Given the description of an element on the screen output the (x, y) to click on. 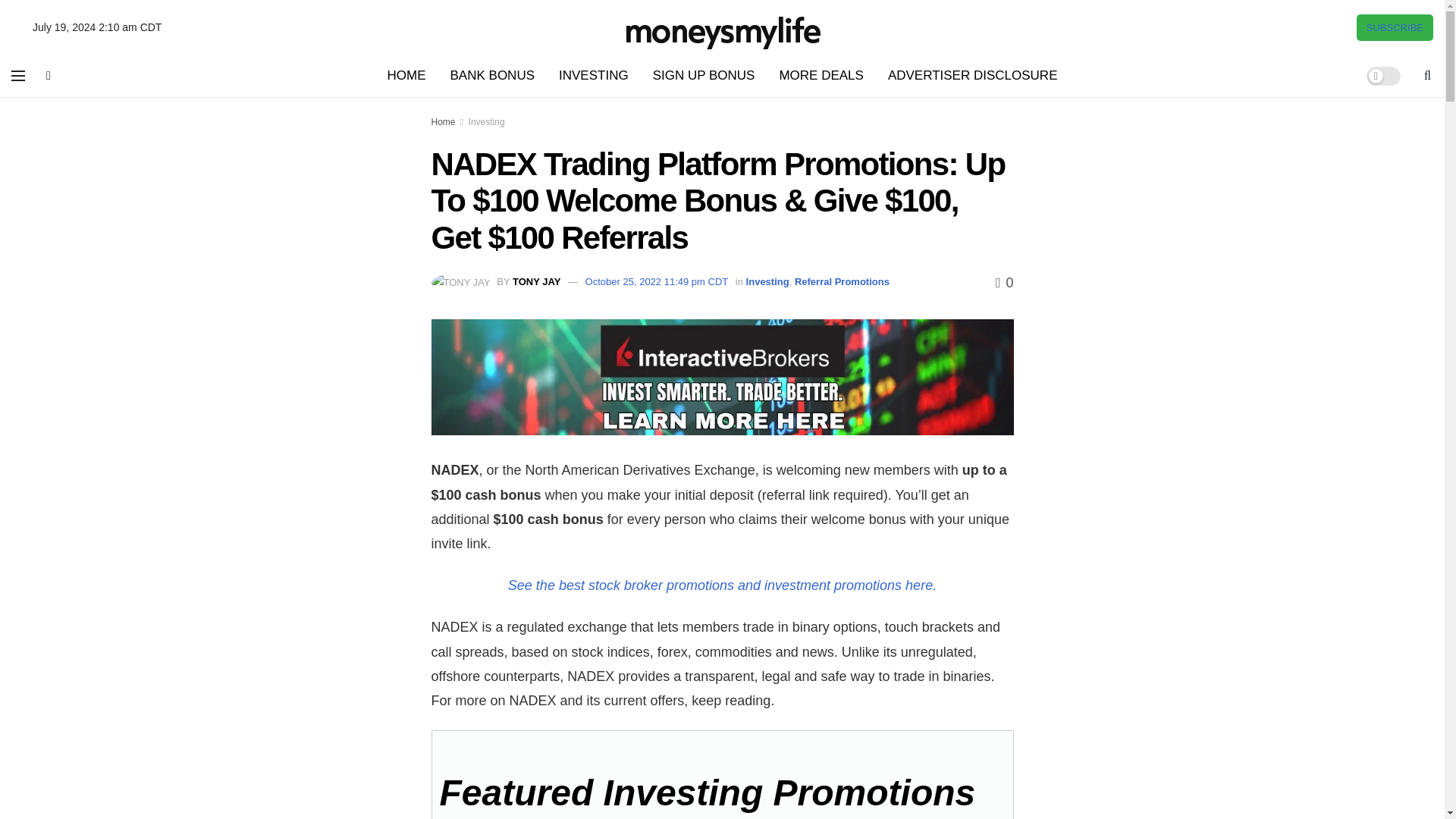
SUBSCRIBE (1394, 26)
BANK BONUS (492, 75)
INVESTING (593, 75)
SIGN UP BONUS (703, 75)
HOME (406, 75)
MORE DEALS (821, 75)
